Given the description of an element on the screen output the (x, y) to click on. 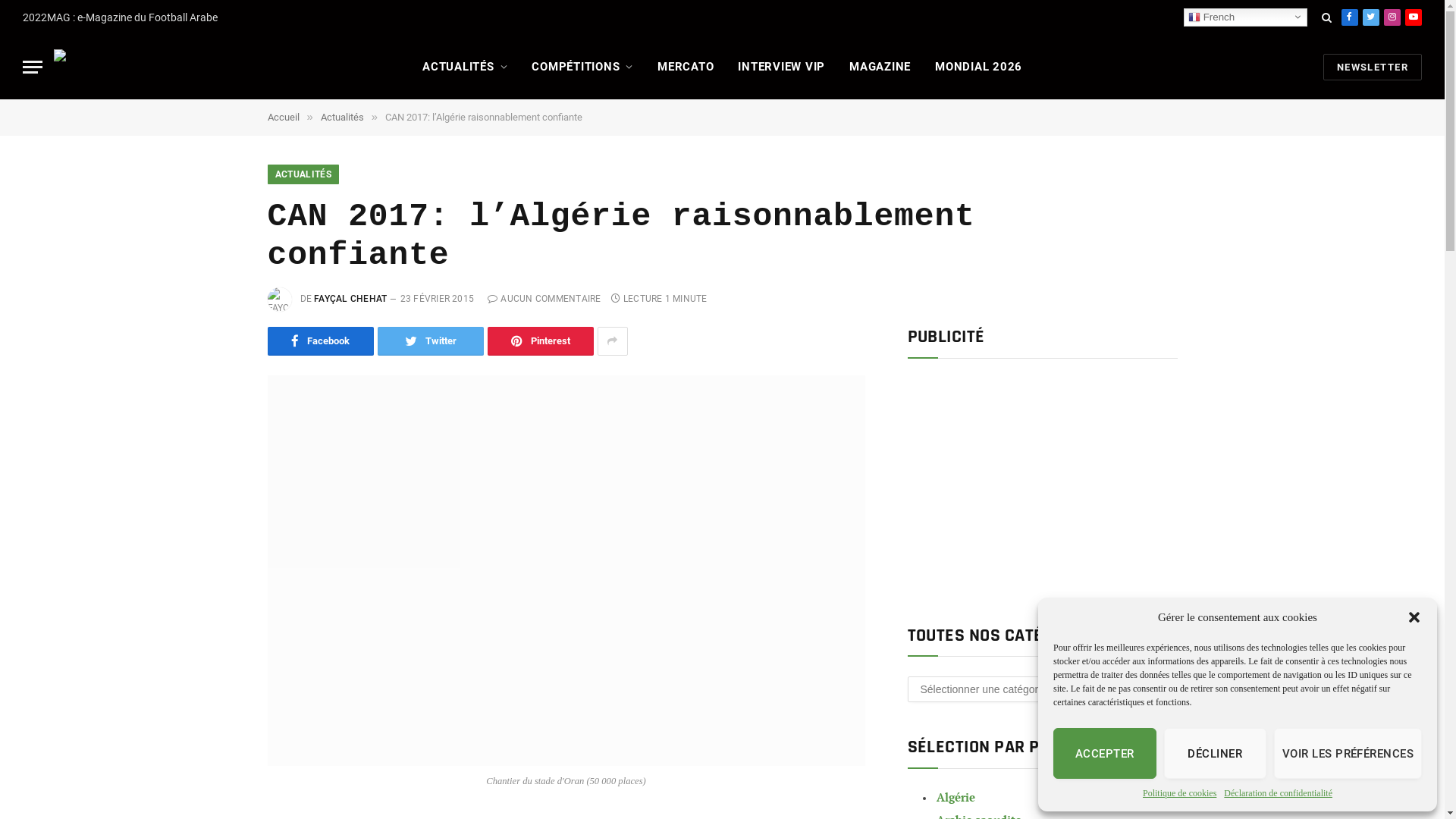
Advertisement Element type: hover (1041, 484)
Accueil Element type: text (282, 116)
Pinterest Element type: text (539, 340)
AUCUN COMMENTAIRE Element type: text (543, 298)
Facebook Element type: text (1349, 17)
Instagram Element type: text (1391, 17)
Twitter Element type: text (1370, 17)
NEWSLETTER Element type: text (1372, 66)
Facebook Element type: text (319, 340)
Twitter Element type: text (430, 340)
INTERVIEW VIP Element type: text (781, 66)
MAGAZINE Element type: text (879, 66)
2022MAG Element type: hover (136, 66)
MERCATO Element type: text (685, 66)
French Element type: text (1245, 16)
Show More Social Sharing Element type: hover (612, 340)
ACCEPTER Element type: text (1104, 753)
MONDIAL 2026 Element type: text (978, 66)
Recherche Element type: hover (1326, 17)
Politique de cookies Element type: text (1179, 793)
2022MAG : e-Magazine du Football Arabe Element type: text (119, 17)
YouTube Element type: text (1413, 17)
